Given the description of an element on the screen output the (x, y) to click on. 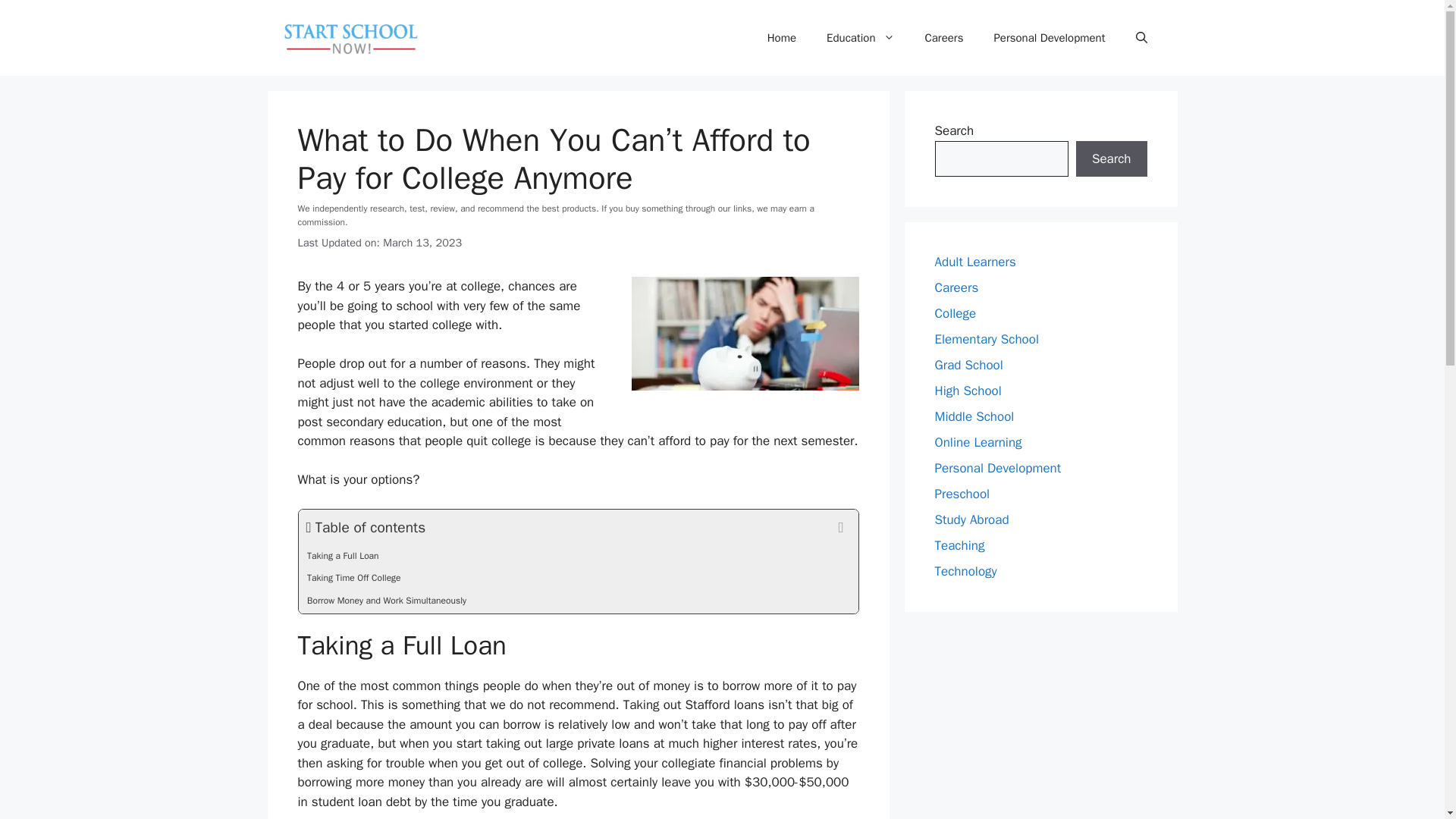
Taking a Full Loan (578, 557)
Education (859, 37)
Home (781, 37)
Careers (944, 37)
Taking Time Off College (578, 579)
Personal Development (1048, 37)
Search (1111, 158)
Adult Learners (974, 261)
Borrow Money and Work Simultaneously (578, 602)
